Given the description of an element on the screen output the (x, y) to click on. 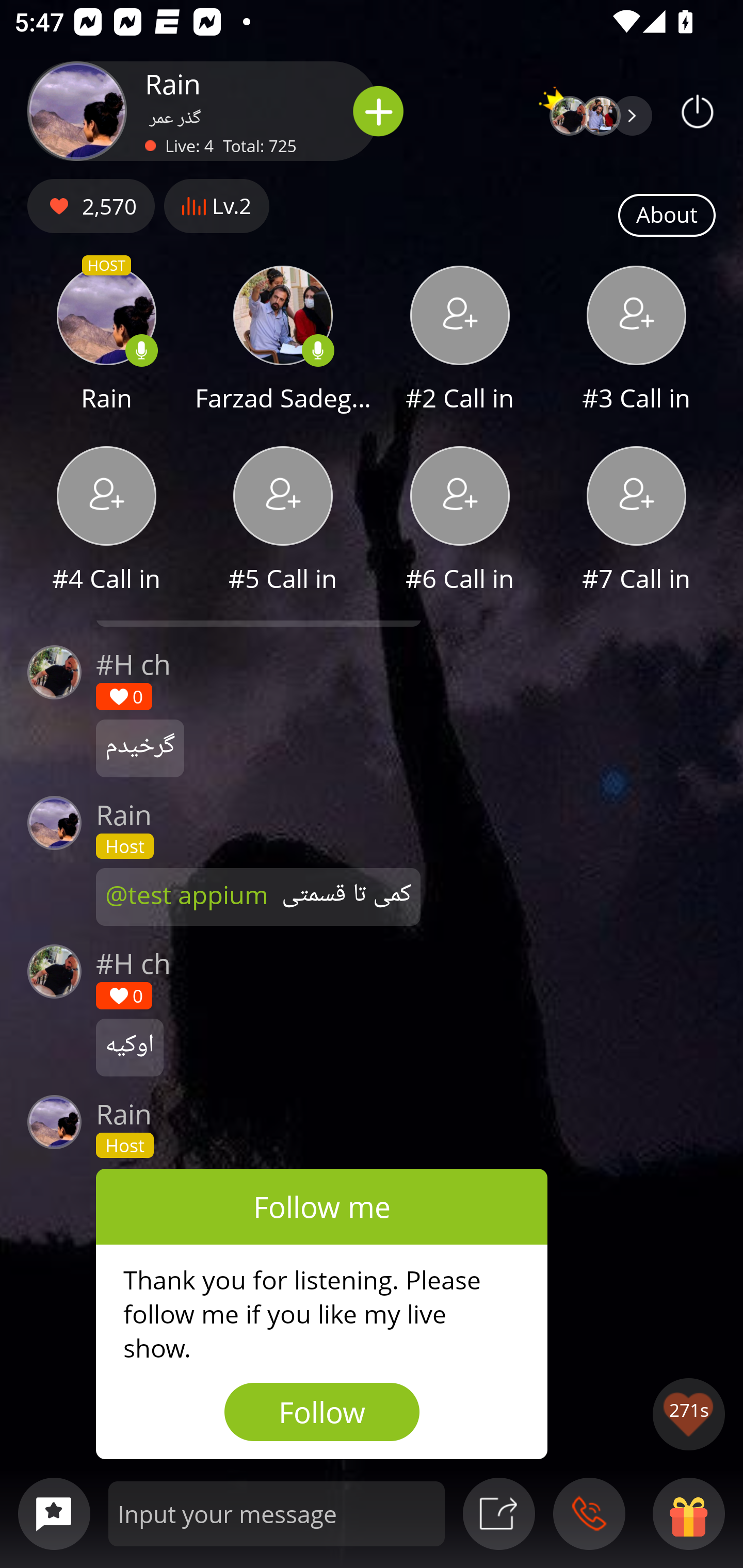
Podbean (697, 111)
About (666, 215)
HOST Rain (105, 340)
Farzad Sadeghi (282, 340)
#2 Call in (459, 340)
#3 Call in (636, 340)
#4 Call in (105, 521)
#5 Call in (282, 521)
#6 Call in (459, 521)
#7 Call in (636, 521)
Follow (321, 1411)
Input your message (276, 1513)
